Given the description of an element on the screen output the (x, y) to click on. 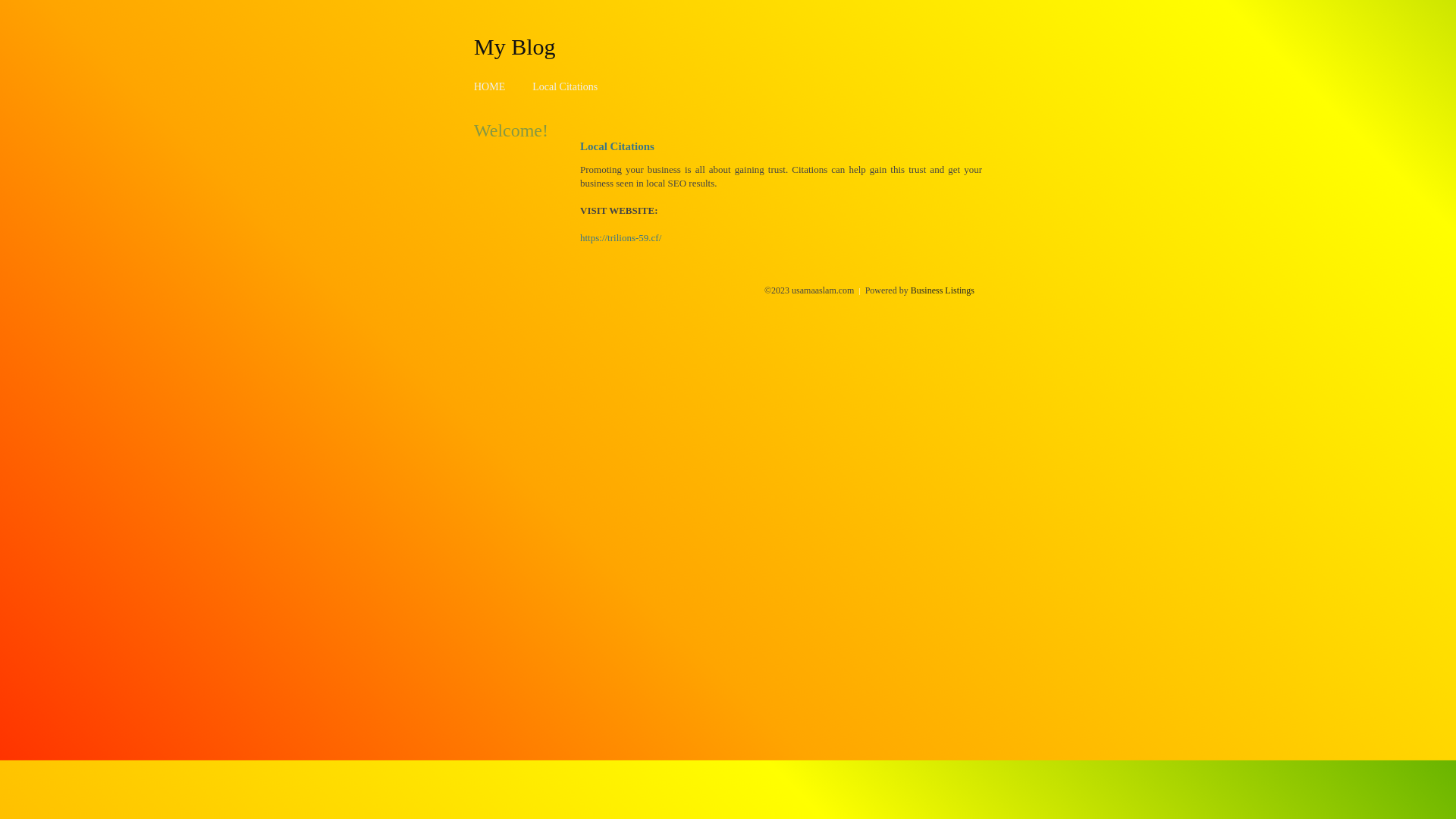
Local Citations Element type: text (564, 86)
Business Listings Element type: text (942, 290)
HOME Element type: text (489, 86)
https://trilions-59.cf/ Element type: text (620, 237)
My Blog Element type: text (514, 46)
